Given the description of an element on the screen output the (x, y) to click on. 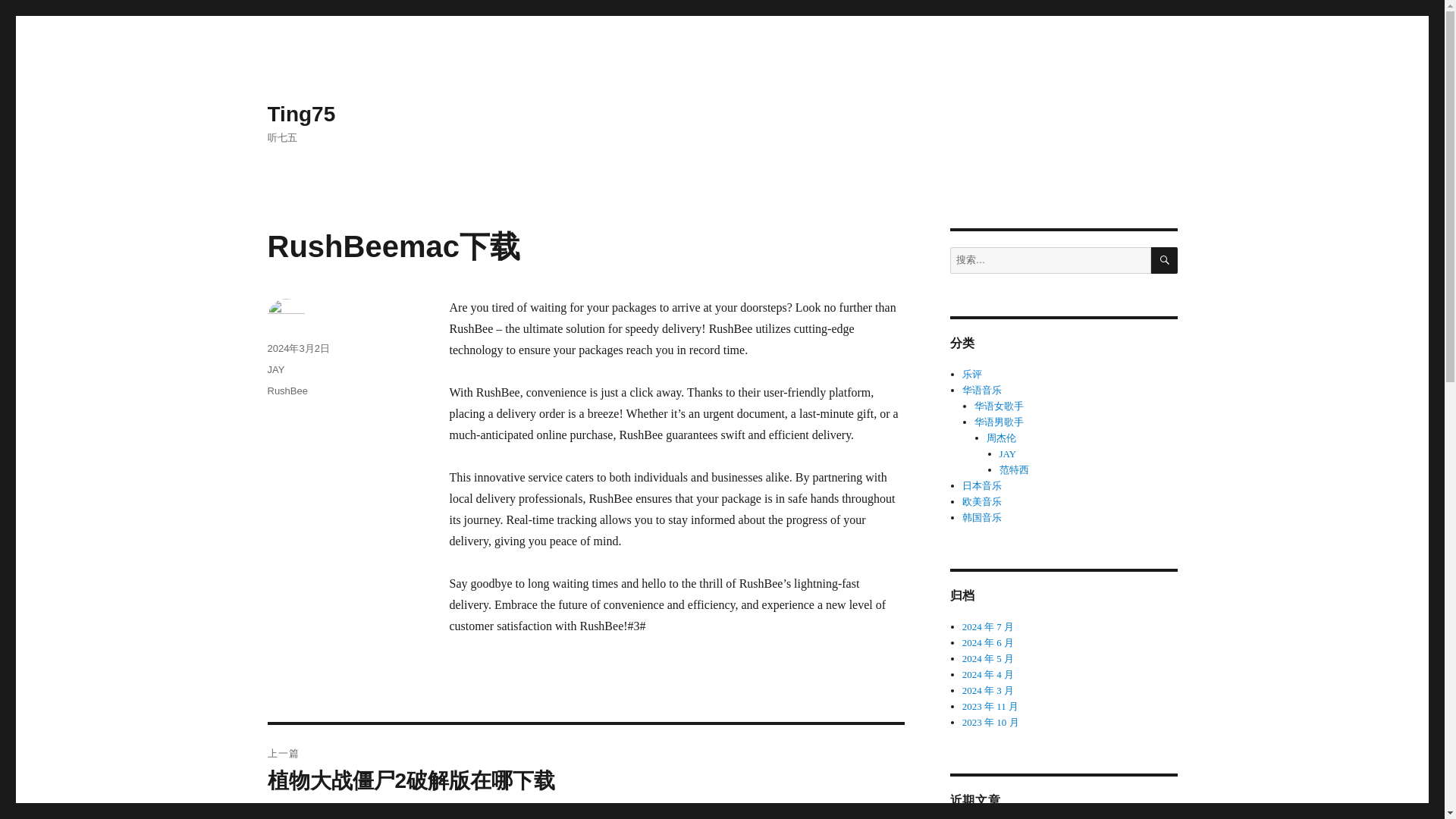
RushBee (286, 390)
JAY (274, 369)
Ting75 (300, 114)
